Given the description of an element on the screen output the (x, y) to click on. 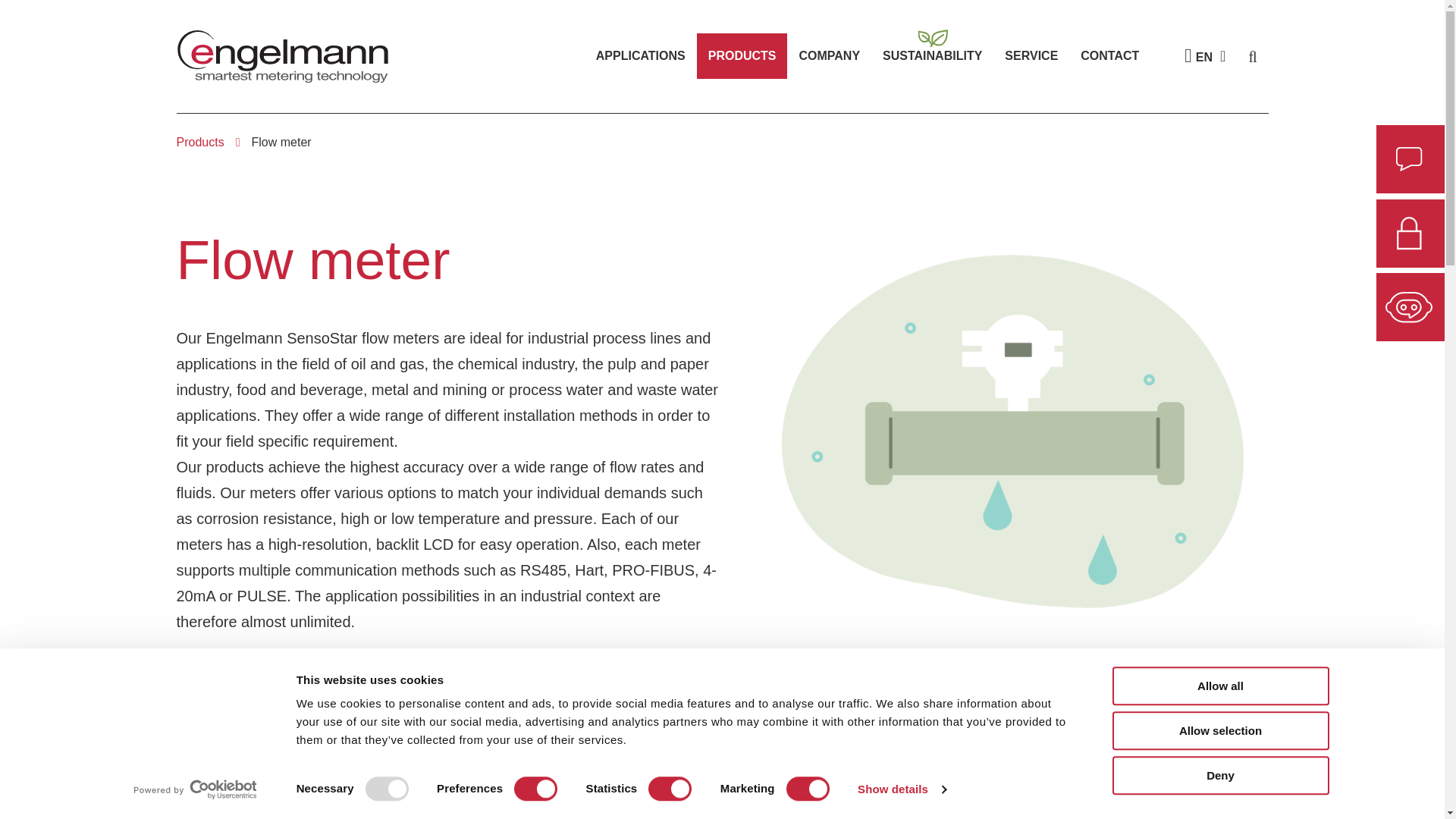
Show details (900, 789)
Deny (1219, 774)
Allow selection (1219, 730)
Flow meter (280, 142)
EN (1210, 55)
